Given the description of an element on the screen output the (x, y) to click on. 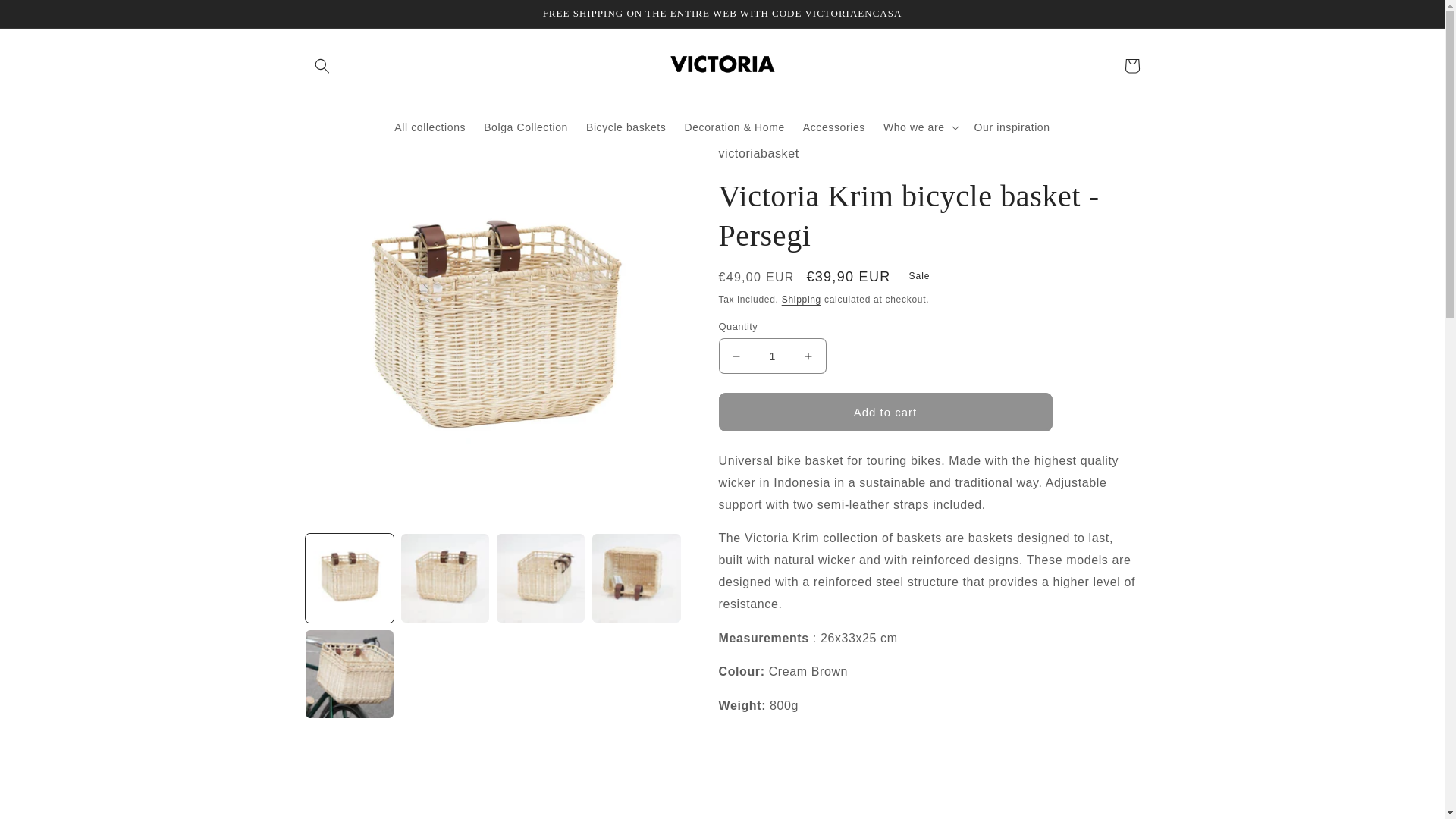
Our inspiration (1012, 127)
All collections (429, 127)
Cart (1131, 65)
Accessories (834, 127)
Bolga Collection (525, 127)
Bicycle baskets (625, 127)
1 (773, 355)
Skip to product information (352, 161)
Skip to content (47, 18)
